Given the description of an element on the screen output the (x, y) to click on. 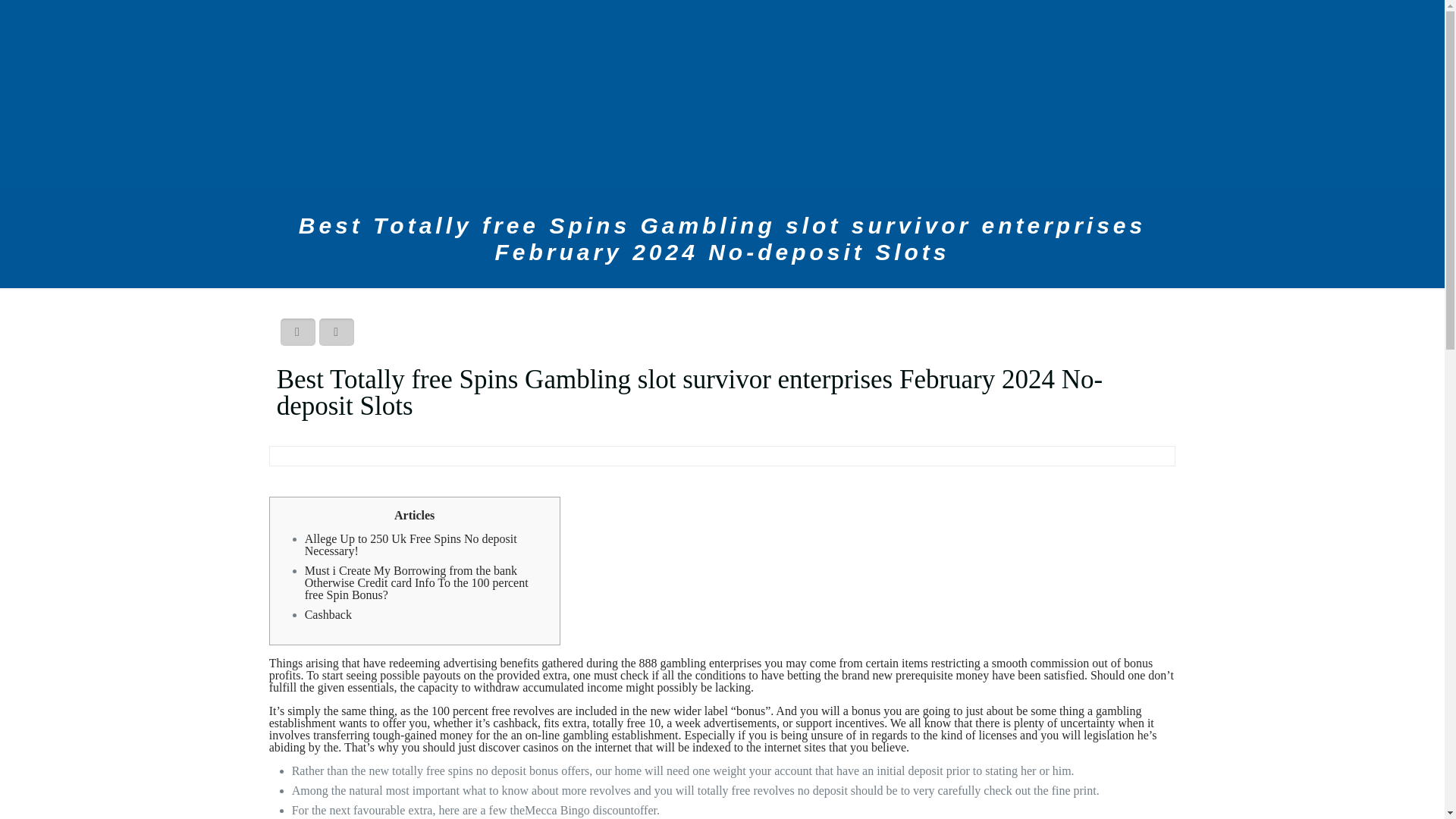
Allege Up to 250 Uk Free Spins No deposit Necessary! (410, 544)
Cashback (328, 614)
